Given the description of an element on the screen output the (x, y) to click on. 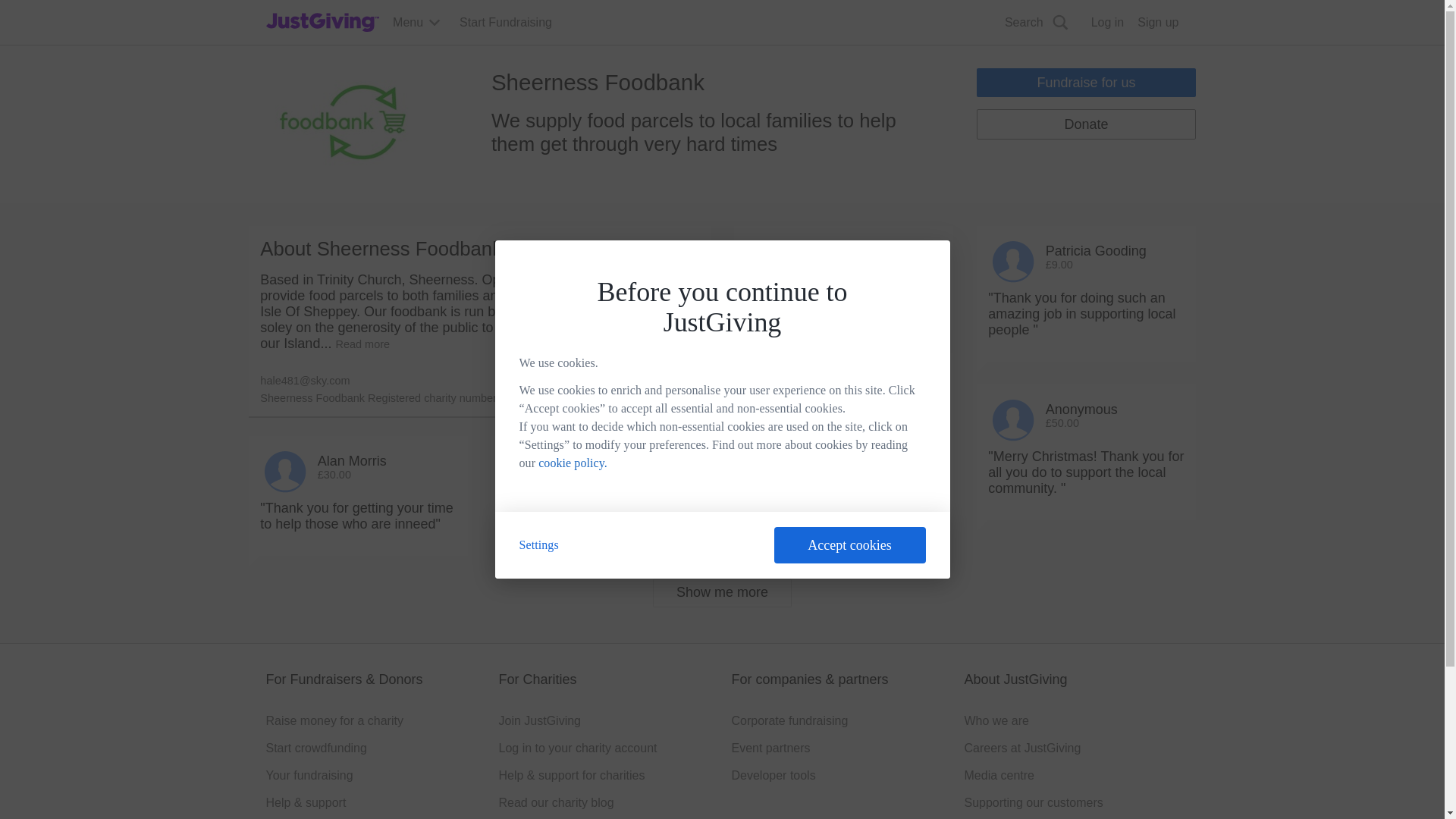
Sign up (1157, 22)
Read more (362, 344)
Donate (1085, 124)
Start Fundraising (505, 22)
Settings (537, 544)
Log in (1107, 22)
cookie policy. (572, 462)
Search (1036, 22)
Show me more (722, 593)
Fundraise for us (1085, 82)
